Given the description of an element on the screen output the (x, y) to click on. 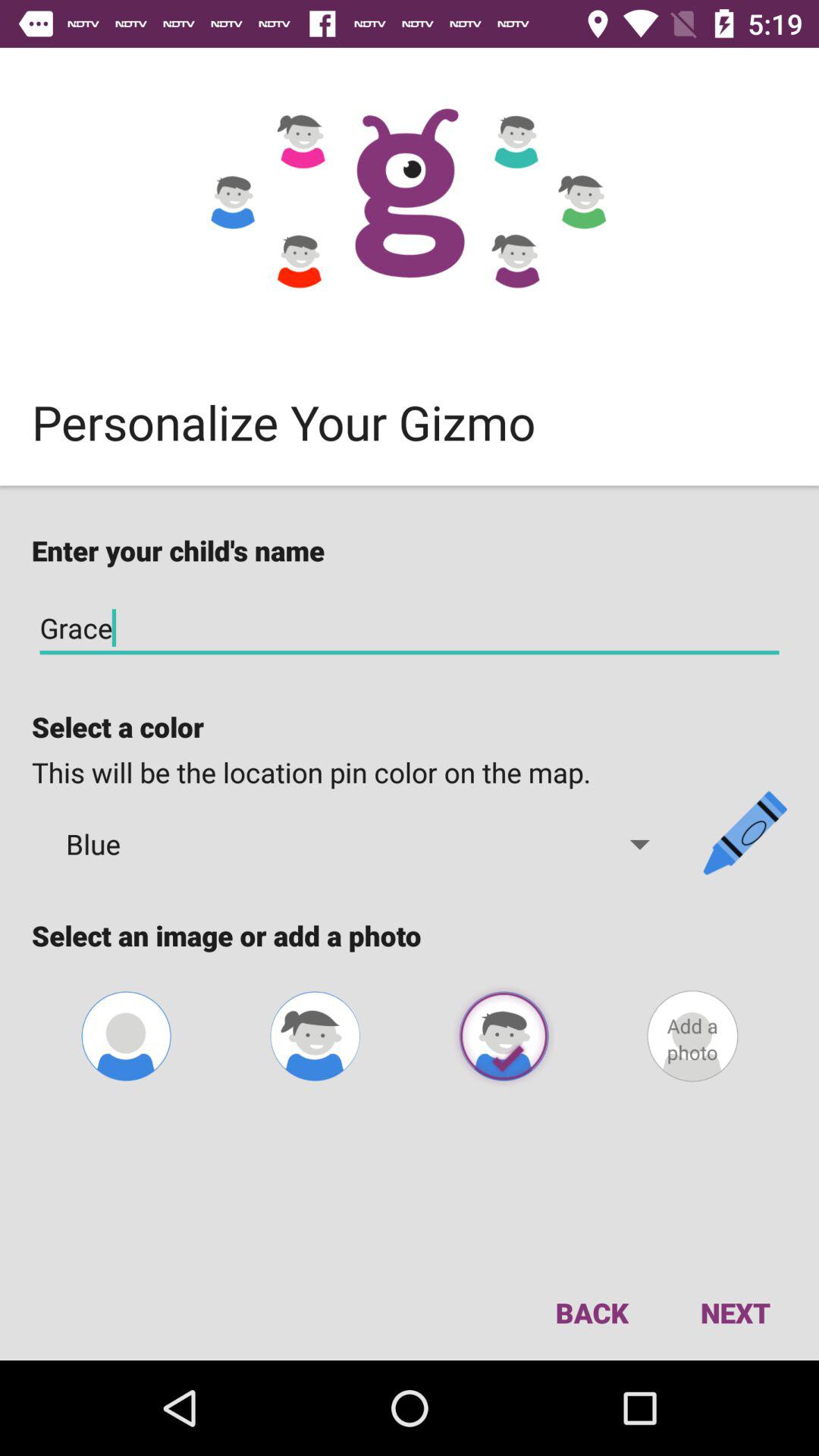
select avatar (503, 1036)
